Given the description of an element on the screen output the (x, y) to click on. 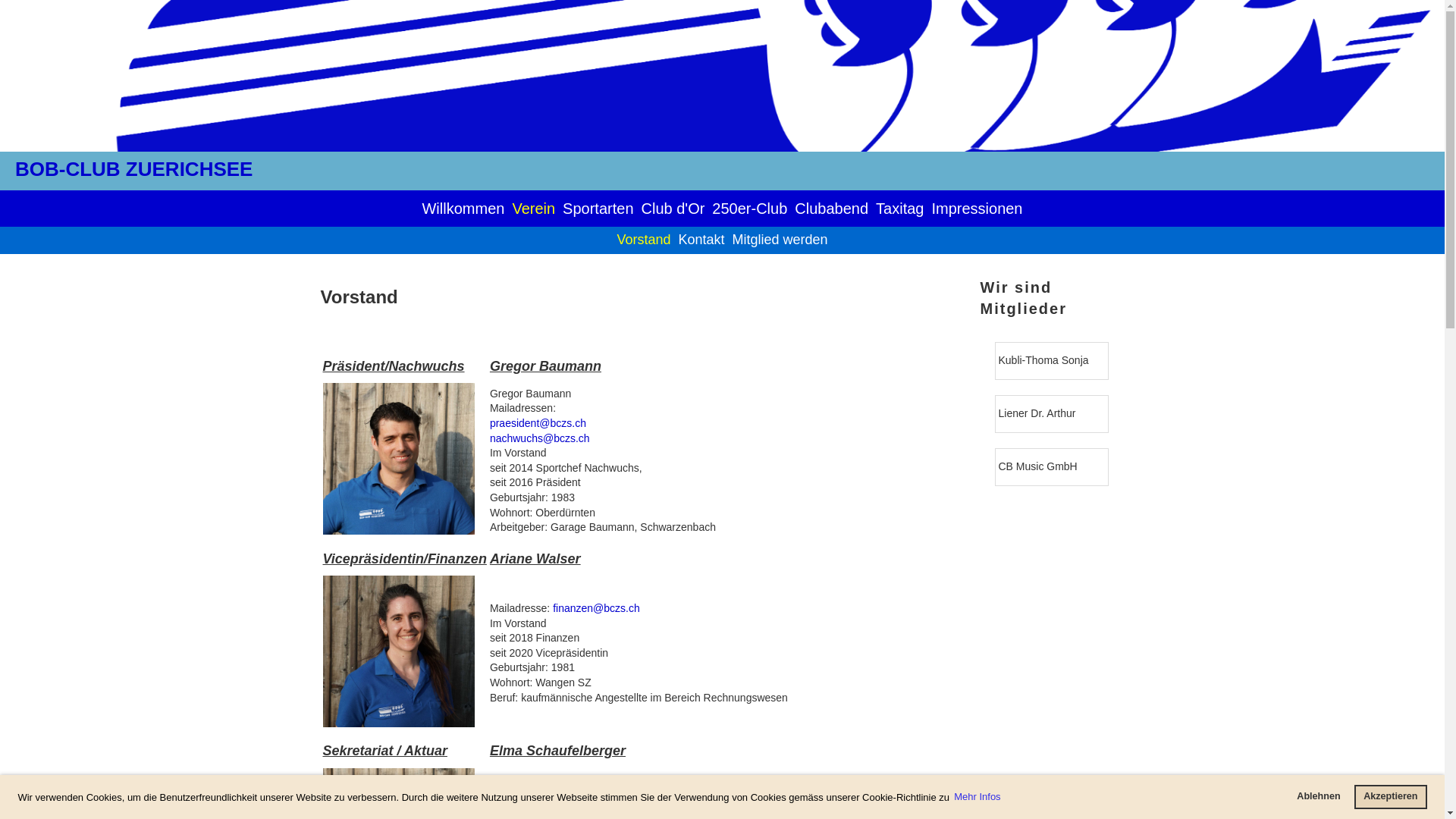
Taxitag Element type: text (899, 208)
Akzeptieren Element type: text (1390, 796)
nachwuchs@bczs.ch Element type: text (539, 438)
Verein Element type: text (533, 208)
Vorstand Element type: text (643, 239)
praesident@bczs.ch Element type: text (537, 423)
sekretariat@bczs.ch Element type: text (600, 793)
Clubabend Element type: text (831, 208)
BOB-CLUB ZUERICHSEE Element type: text (133, 168)
finanzen@bczs.ch Element type: text (596, 608)
Impressionen Element type: text (976, 208)
Club d'Or Element type: text (672, 208)
Sportarten Element type: text (597, 208)
Ablehnen Element type: text (1318, 796)
meilaa-treuhand gmbh Element type: text (1050, 360)
250er-Club Element type: text (749, 208)
Mitglied werden Element type: text (779, 239)
Willkommen Element type: text (462, 208)
Mehr Infos Element type: text (977, 796)
Fontana + Partner AG Immobilien Element type: text (1049, 412)
Kontakt Element type: text (701, 239)
